Given the description of an element on the screen output the (x, y) to click on. 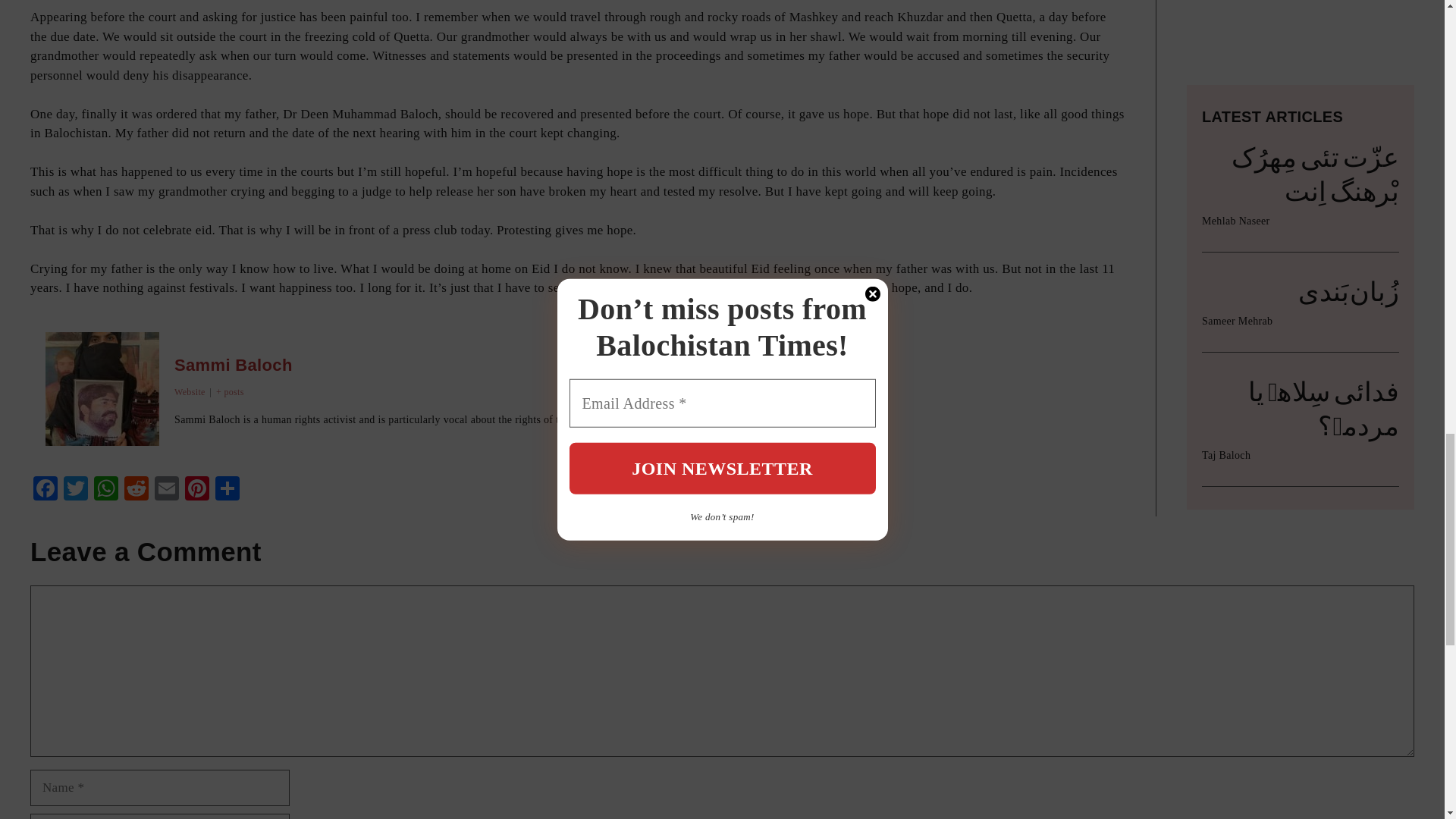
Twitter (75, 489)
Facebook (45, 489)
WhatsApp (105, 489)
Share (227, 489)
WhatsApp (105, 489)
Twitter (75, 489)
Website (189, 391)
Reddit (135, 489)
Facebook (45, 489)
Sammi Baloch (233, 364)
Email (166, 489)
Email (166, 489)
Pinterest (197, 489)
Pinterest (197, 489)
Reddit (135, 489)
